Given the description of an element on the screen output the (x, y) to click on. 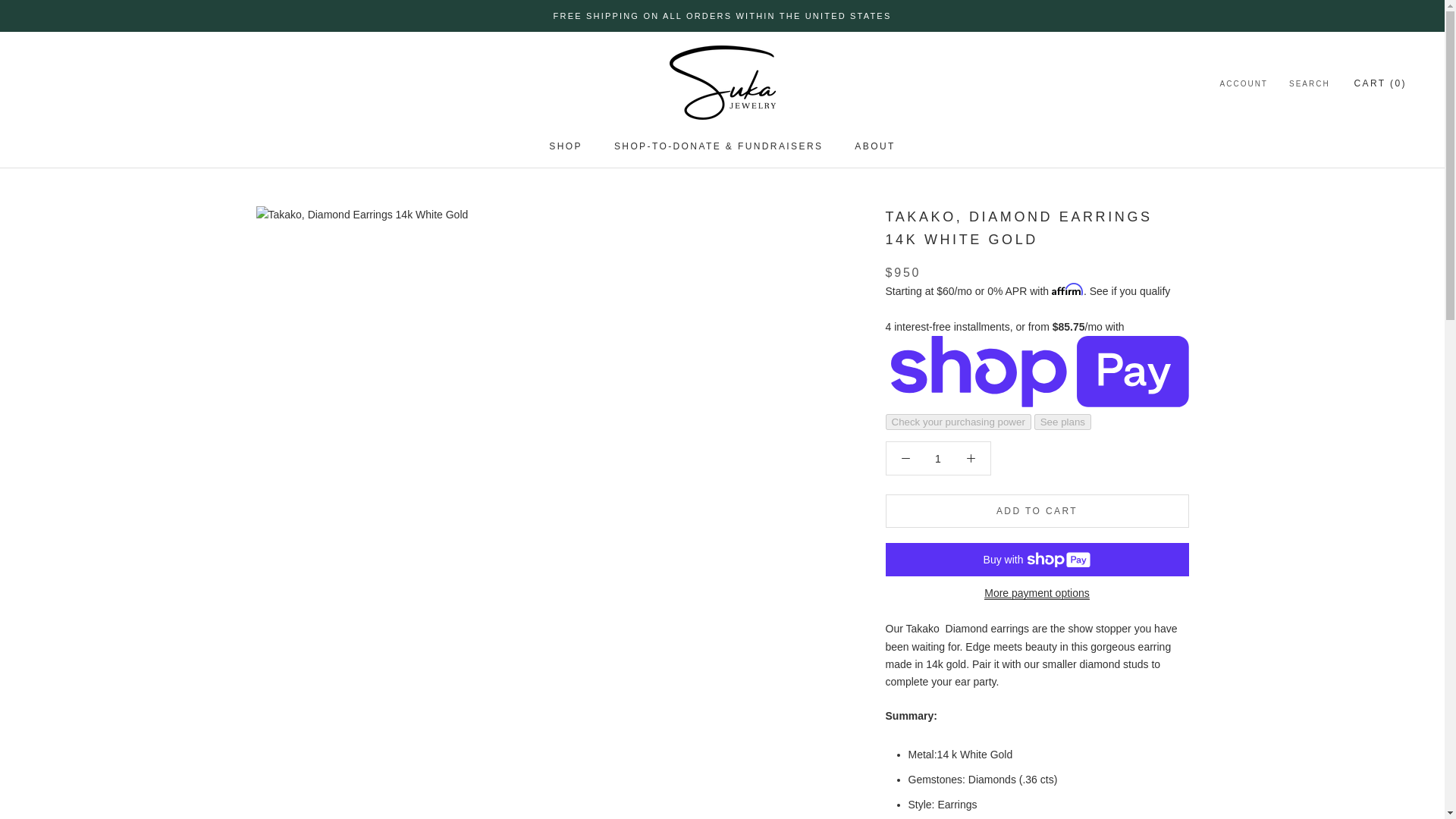
1 (938, 458)
